Given the description of an element on the screen output the (x, y) to click on. 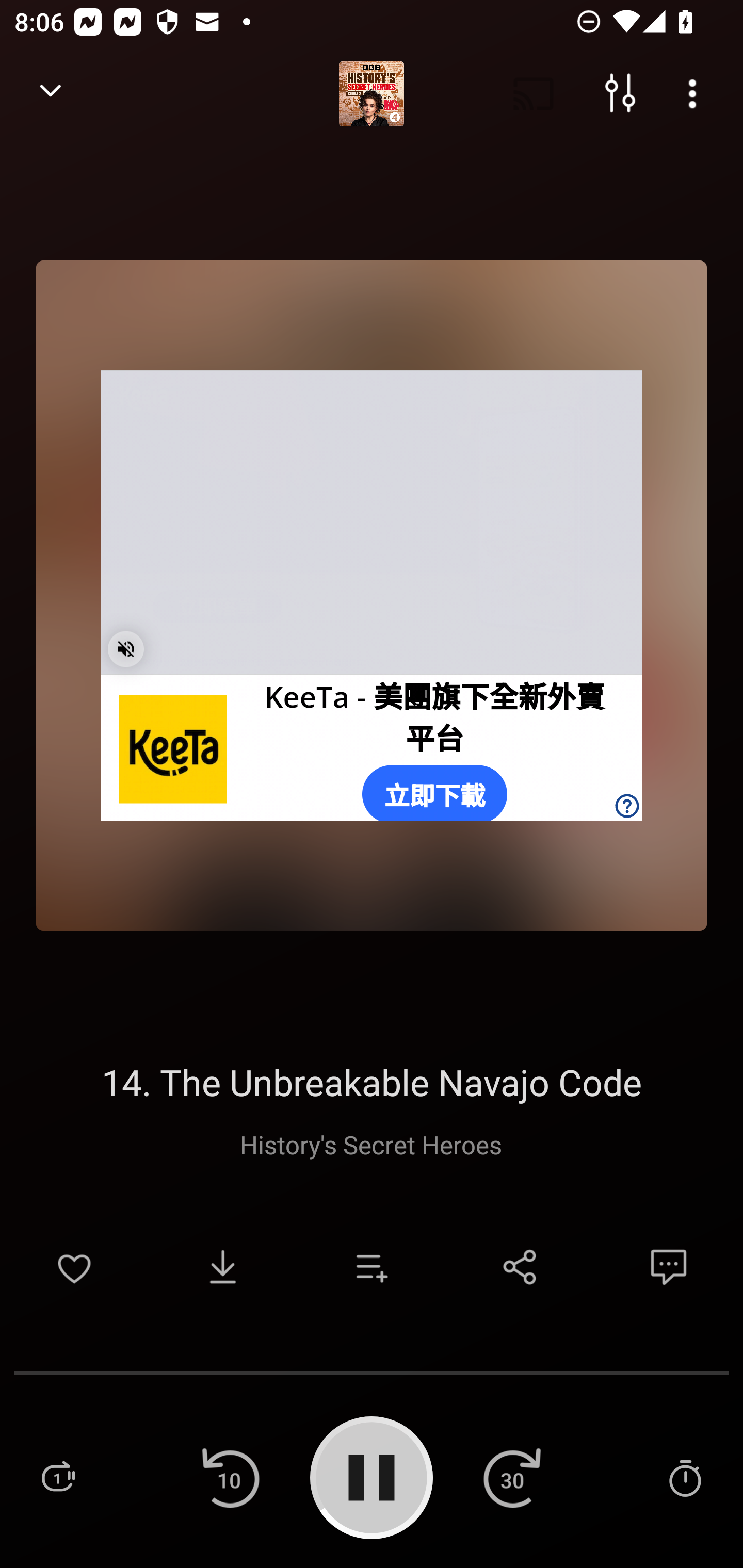
 Back (50, 94)
14. The Unbreakable Navajo Code (371, 1081)
History's Secret Heroes (370, 1144)
Comments (668, 1266)
Add to Favorites (73, 1266)
Add to playlist (371, 1266)
Share (519, 1266)
 Playlist (57, 1477)
Sleep Timer  (684, 1477)
